Given the description of an element on the screen output the (x, y) to click on. 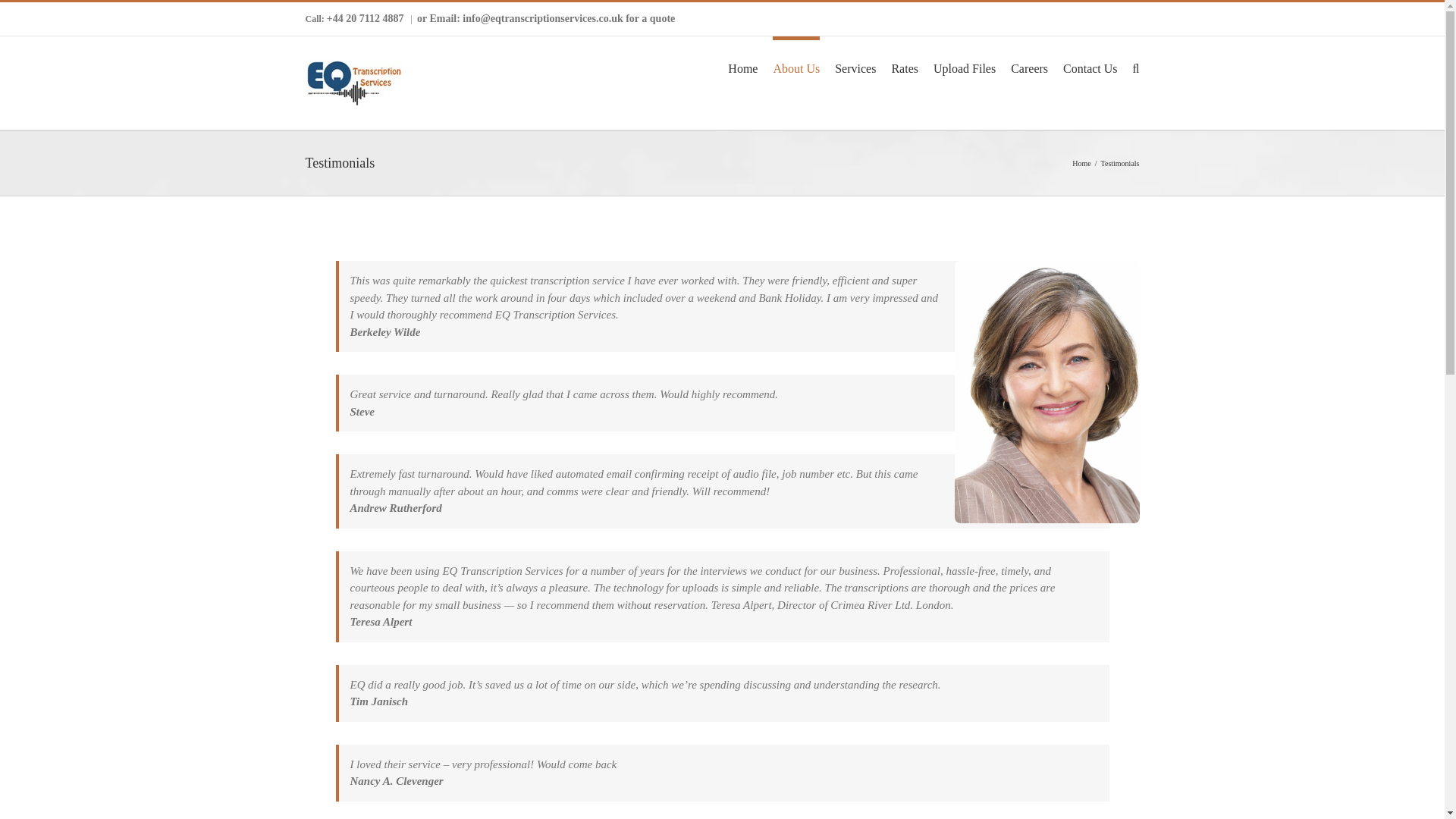
Contact Us (1090, 66)
Home (1080, 162)
Upload Files (964, 66)
